Given the description of an element on the screen output the (x, y) to click on. 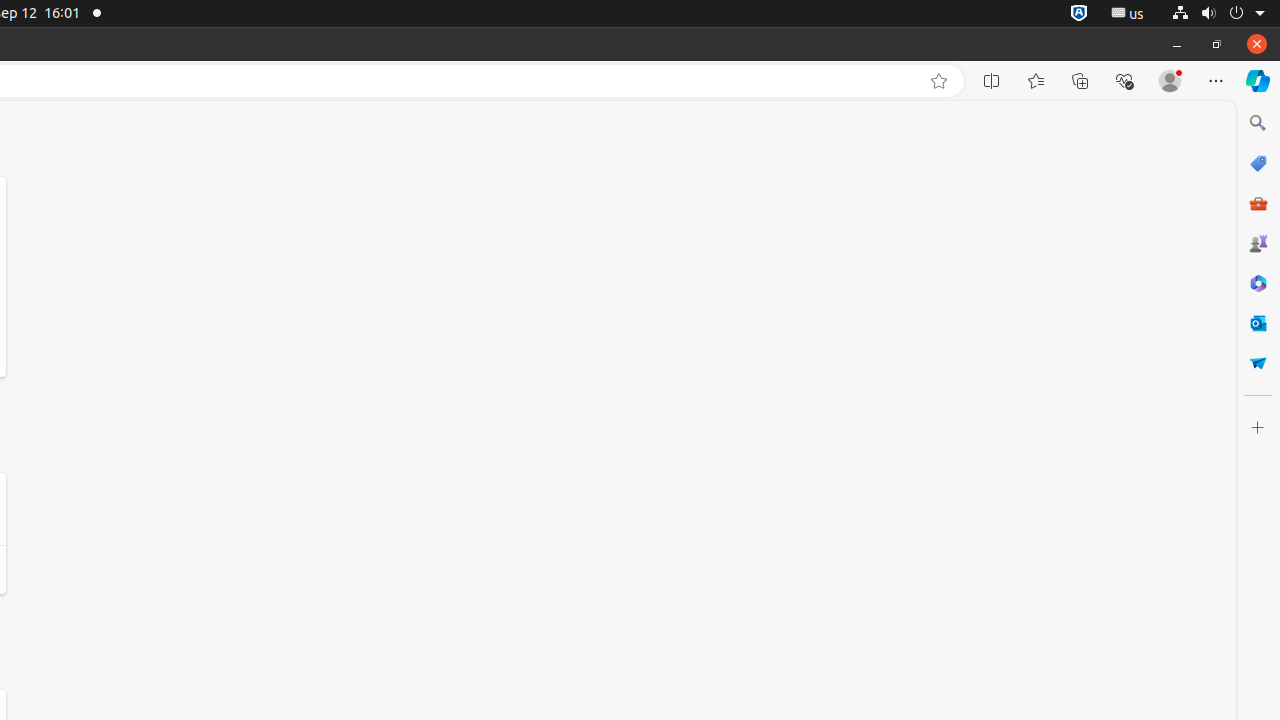
System Element type: menu (1218, 13)
Customize Element type: push-button (1258, 428)
Profile 1 Profile, Please sign in Element type: push-button (1170, 81)
Copilot (Ctrl+Shift+.) Element type: push-button (1258, 81)
Favorites Element type: push-button (1036, 81)
